Given the description of an element on the screen output the (x, y) to click on. 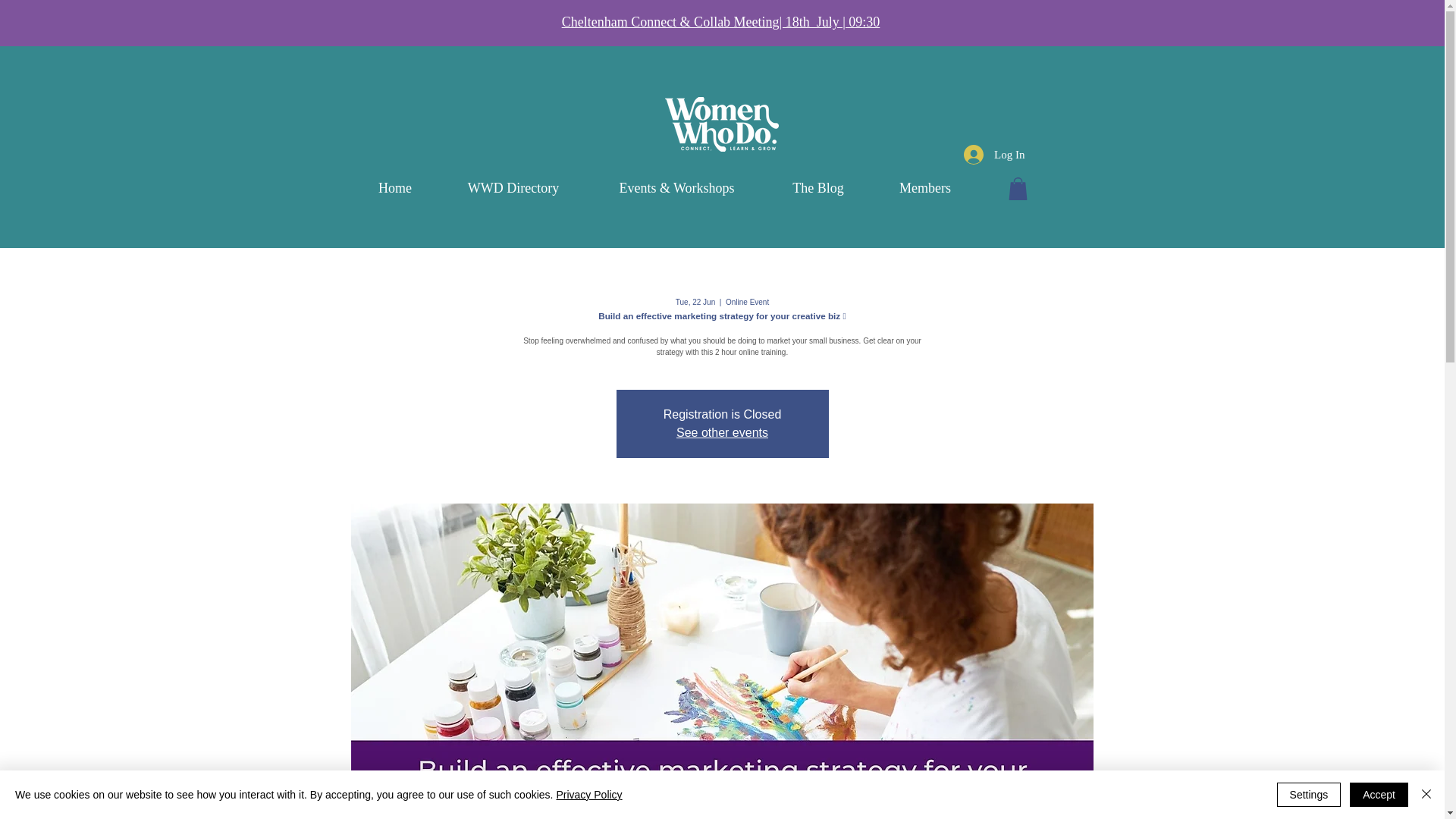
Members (924, 188)
See other events (722, 431)
Log In (957, 37)
Log In (994, 154)
The Blog (817, 188)
WWD Directory (513, 188)
Privacy Policy (588, 794)
Home (394, 188)
